Given the description of an element on the screen output the (x, y) to click on. 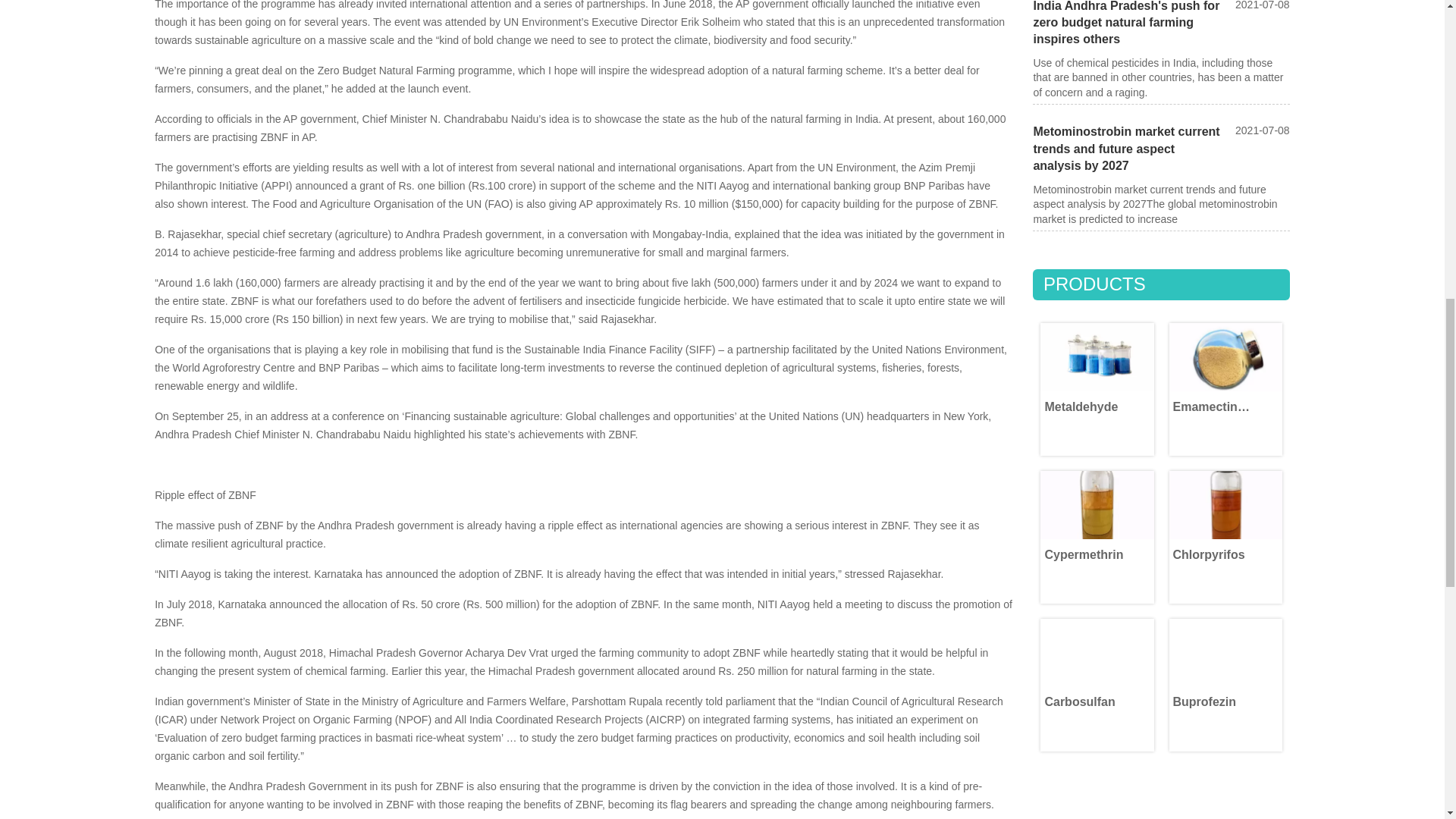
Buprofezin (1225, 652)
Carbosulfan (1097, 652)
Chlorpyrifos (1225, 504)
Cypermethrin (1097, 504)
Emamectin Benzoate (1225, 356)
Metaldehyde (1097, 356)
